Given the description of an element on the screen output the (x, y) to click on. 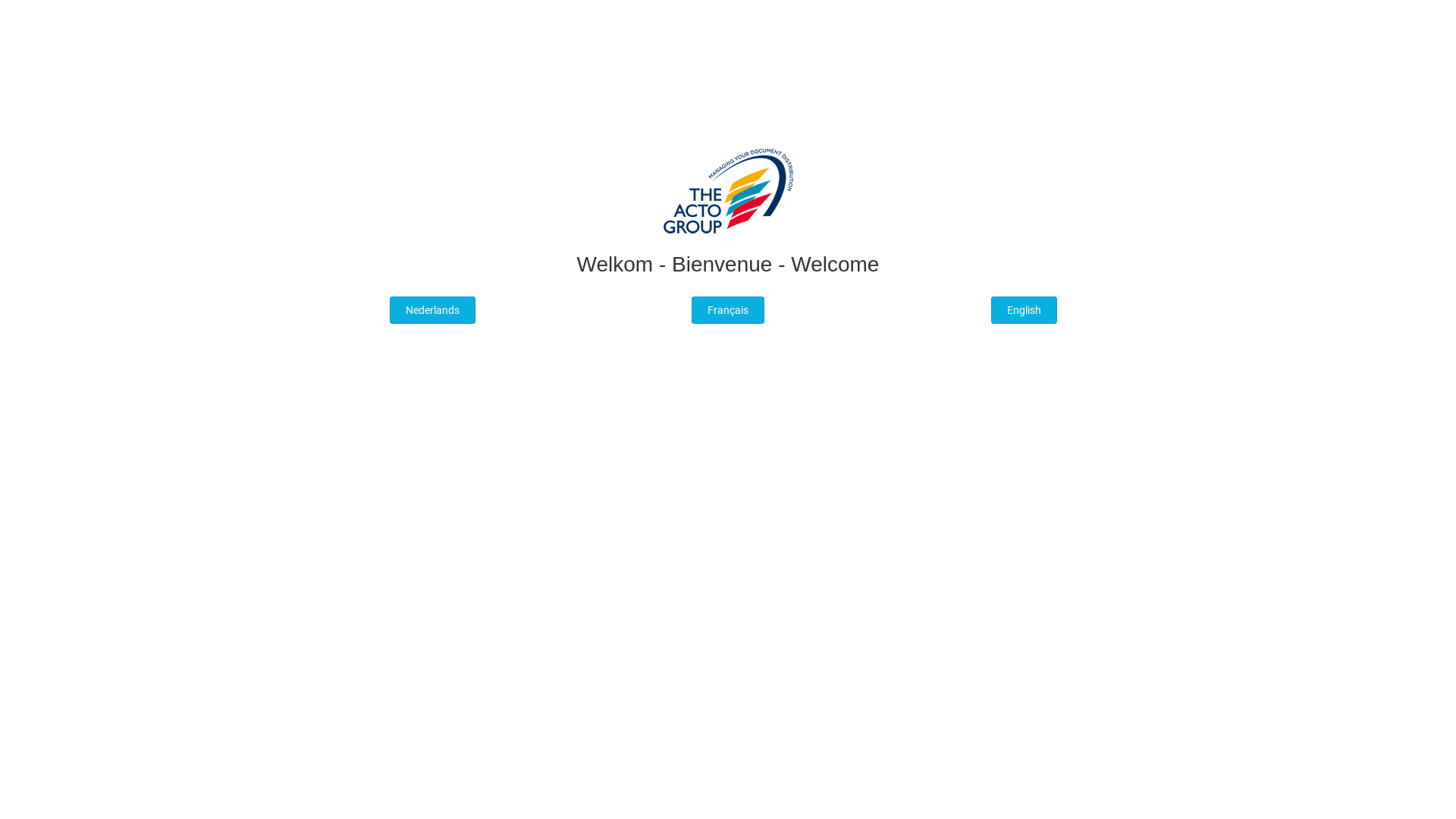
Nederlands Element type: text (432, 310)
English Element type: text (1023, 310)
